Given the description of an element on the screen output the (x, y) to click on. 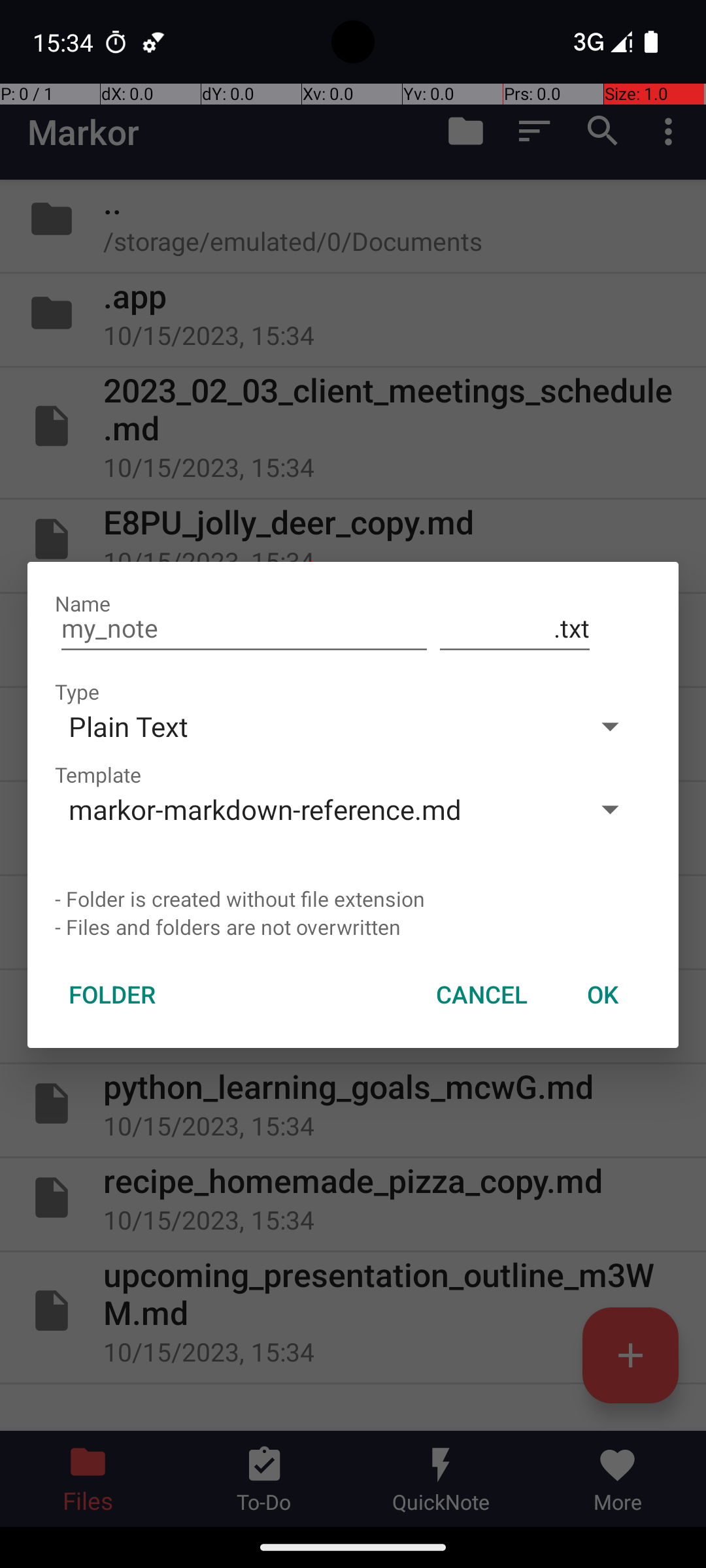
.txt Element type: android.widget.EditText (514, 628)
